Given the description of an element on the screen output the (x, y) to click on. 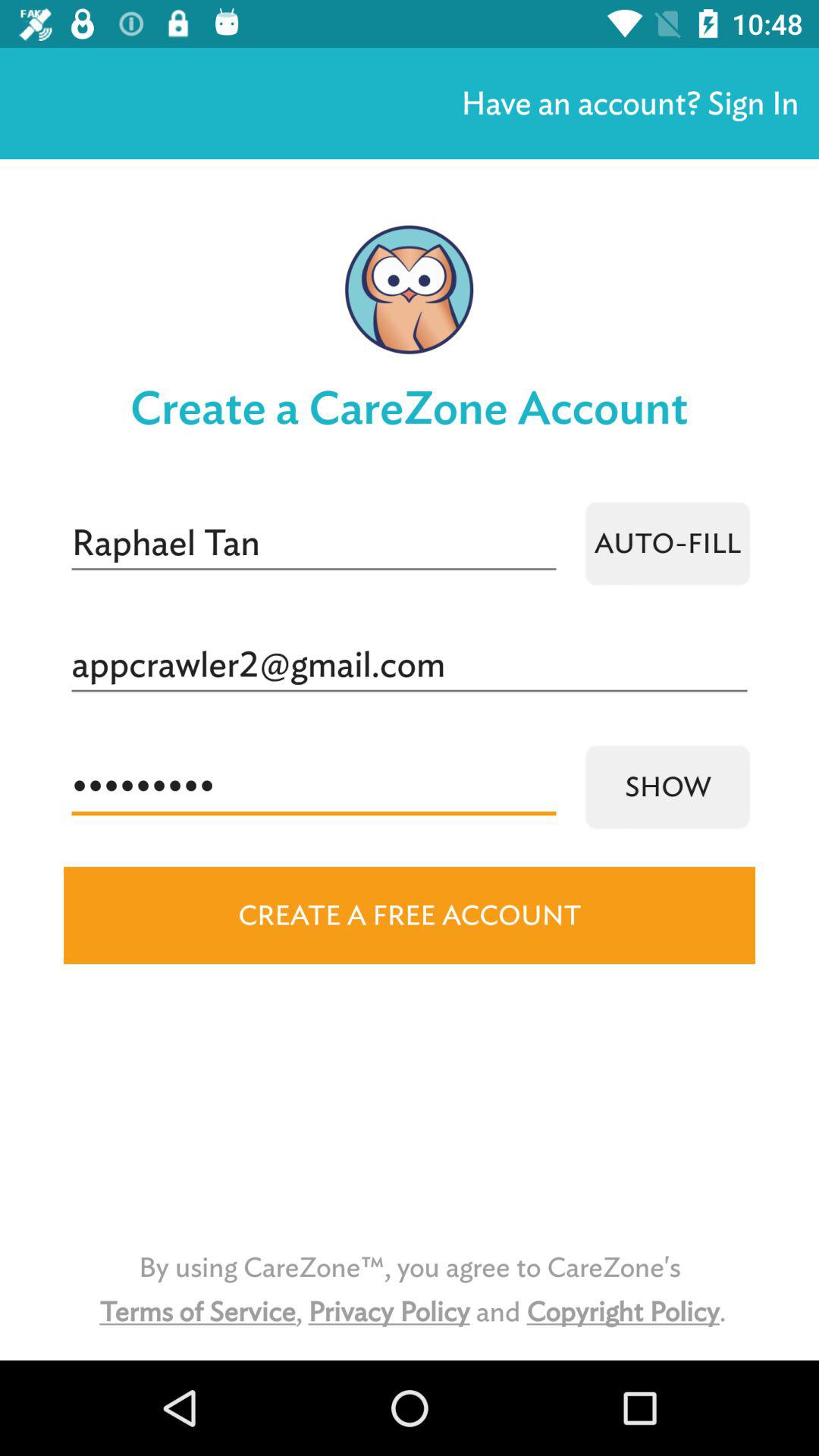
scroll to the auto-fill item (667, 543)
